Given the description of an element on the screen output the (x, y) to click on. 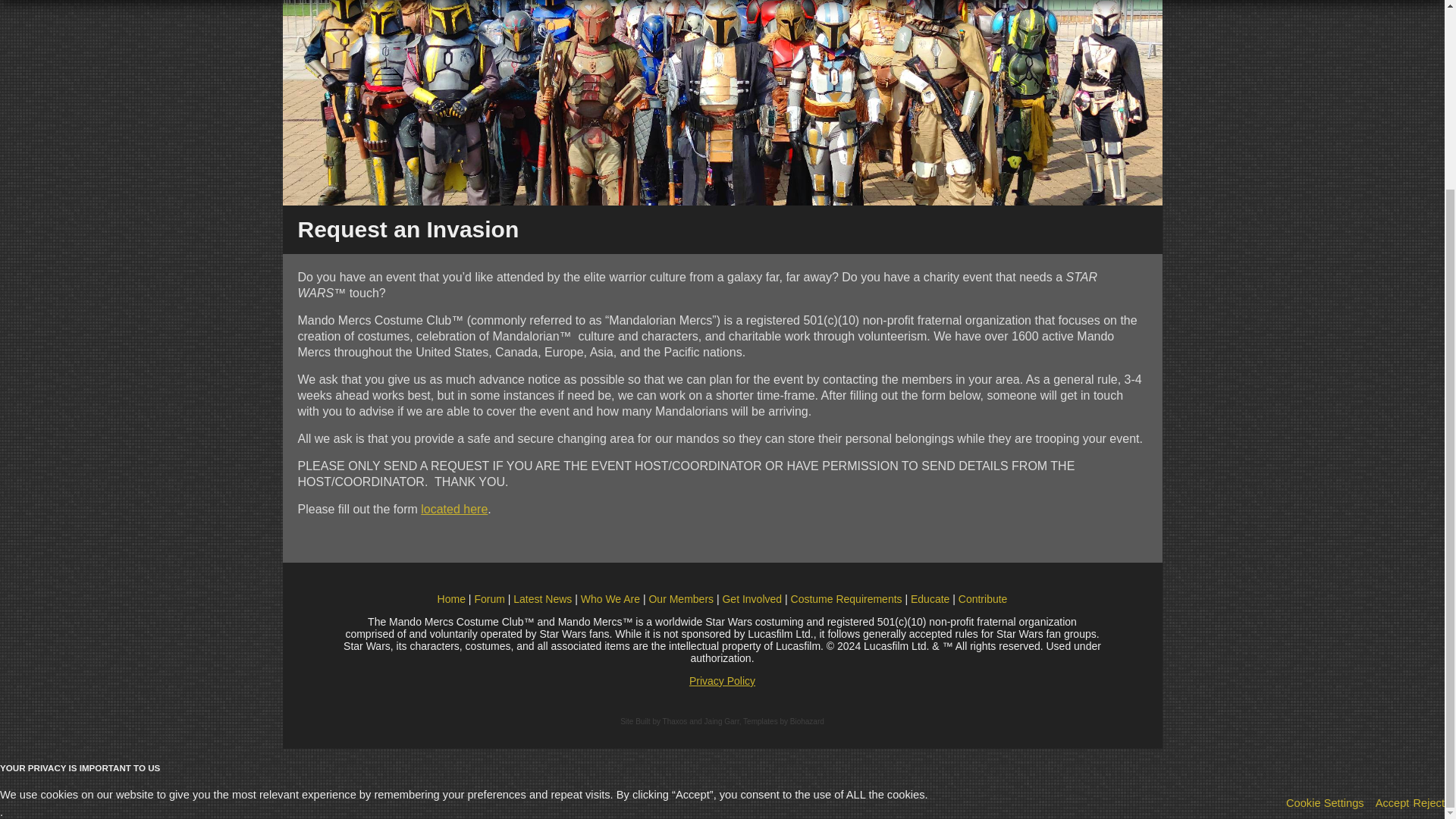
Forum (488, 598)
located here (453, 508)
